Given the description of an element on the screen output the (x, y) to click on. 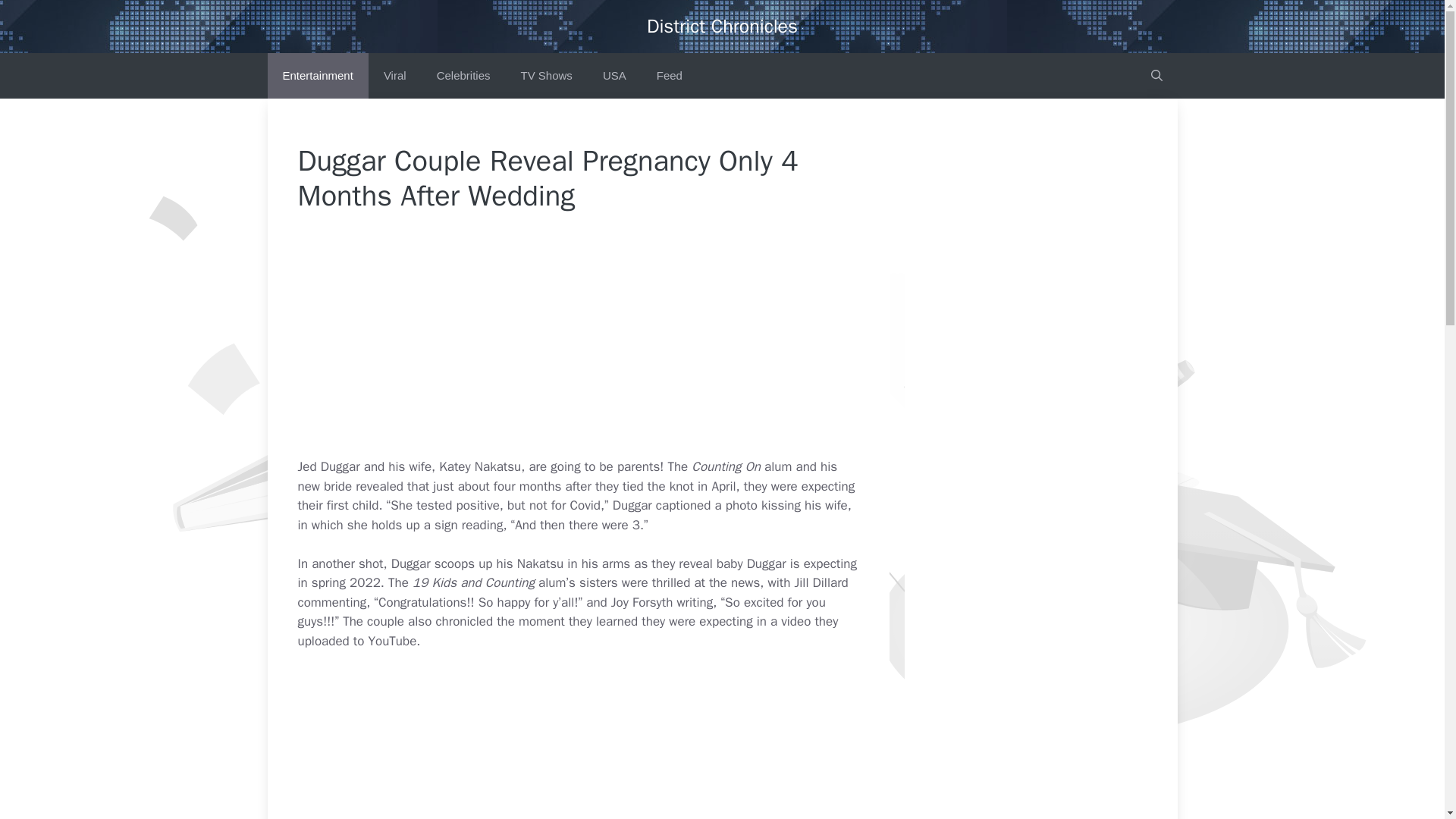
Entertainment (317, 75)
USA (615, 75)
TV Shows (546, 75)
Feed (669, 75)
District Chronicles (721, 25)
Advertisement (611, 345)
Advertisement (611, 744)
uploaded to YouTube (356, 641)
Viral (395, 75)
Celebrities (463, 75)
